Given the description of an element on the screen output the (x, y) to click on. 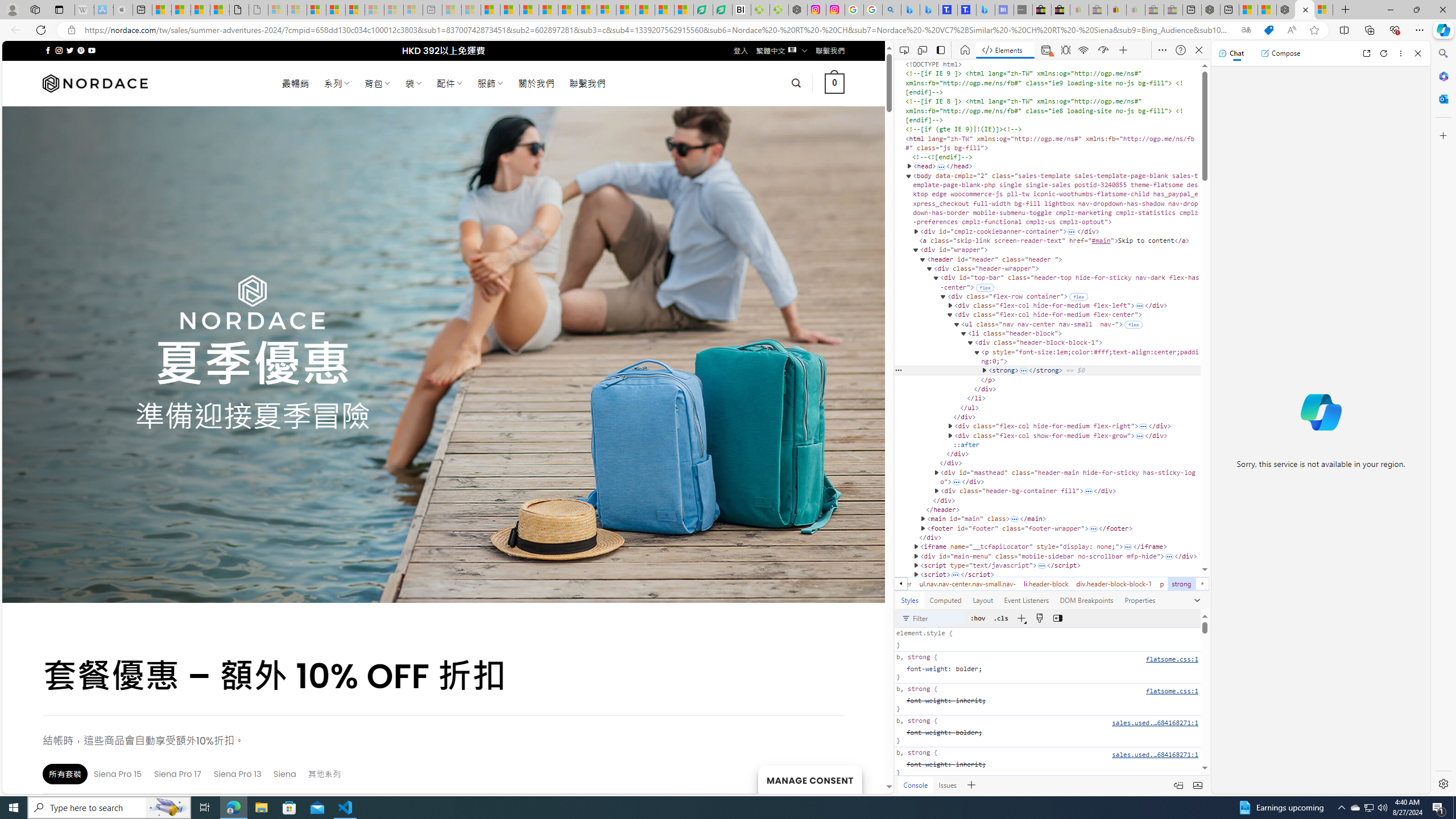
Select an element in the page to inspect it (904, 49)
Show translate options (1245, 29)
Elements (1005, 49)
Follow on Facebook (47, 50)
Microsoft account | Account Checkup - Sleeping (413, 9)
Restore (1416, 9)
Close (1417, 53)
Customize (1442, 135)
Nordace (95, 83)
Add this page to favorites (Ctrl+D) (1314, 29)
